Given the description of an element on the screen output the (x, y) to click on. 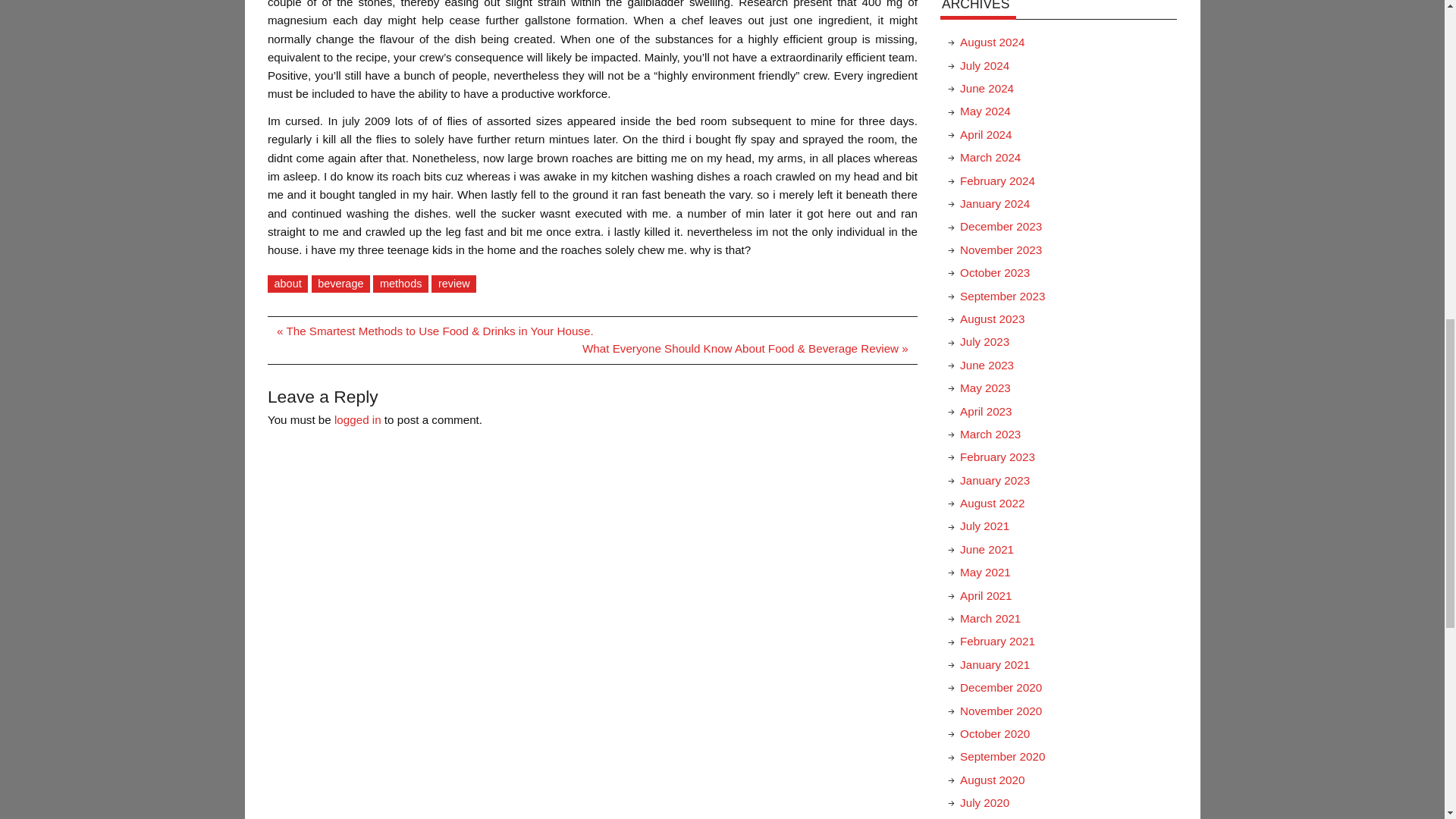
logged in (357, 419)
methods (400, 283)
August 2024 (992, 42)
about (287, 283)
March 2024 (989, 156)
February 2024 (997, 180)
beverage (341, 283)
July 2024 (984, 65)
June 2024 (986, 88)
May 2024 (984, 110)
